Given the description of an element on the screen output the (x, y) to click on. 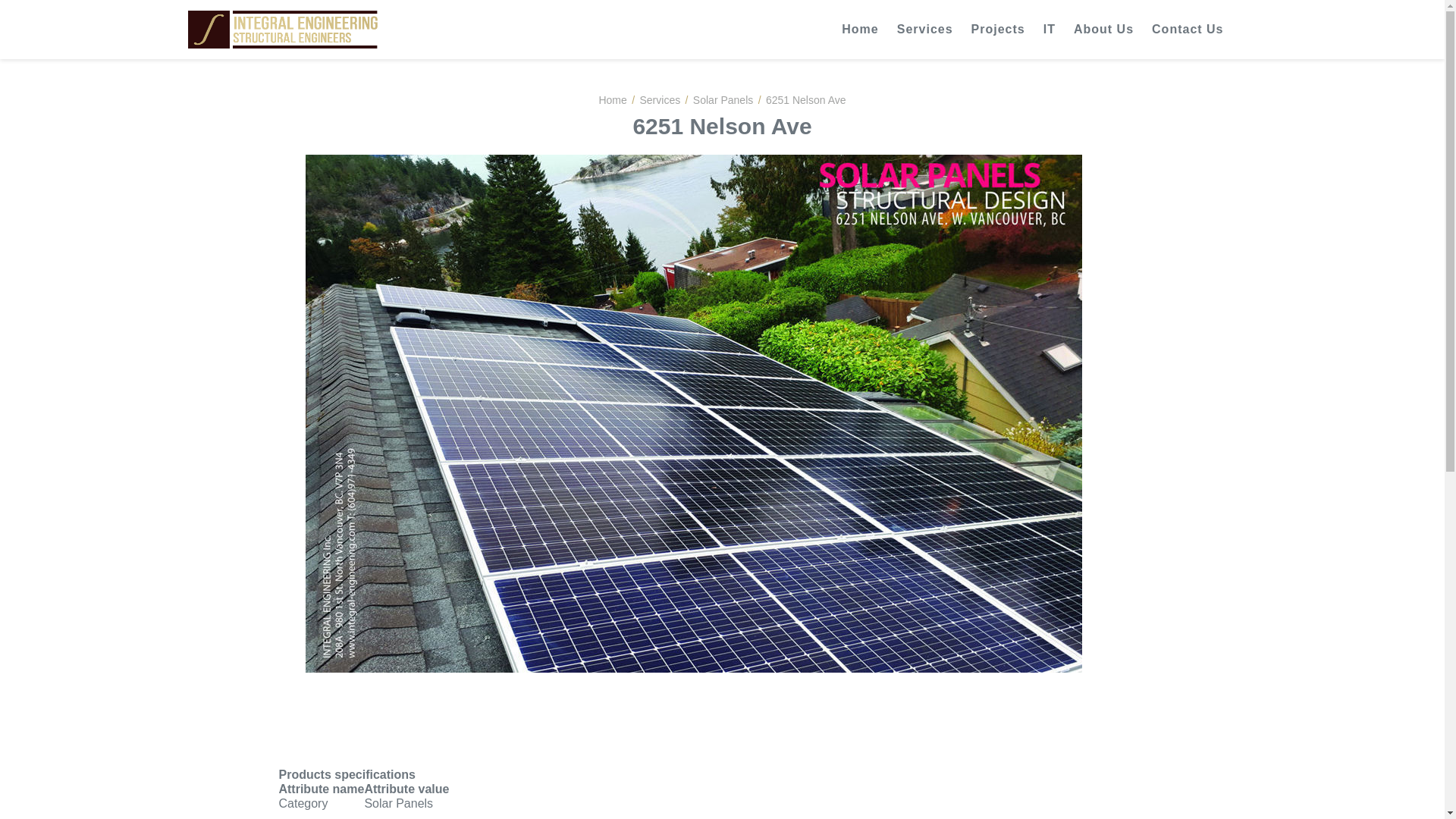
Home (859, 29)
IT (1048, 29)
About Us (1103, 29)
Projects (997, 29)
Solar Panels (722, 99)
Services (925, 29)
Contact Us (1186, 29)
Services (660, 99)
Home (612, 99)
